Given the description of an element on the screen output the (x, y) to click on. 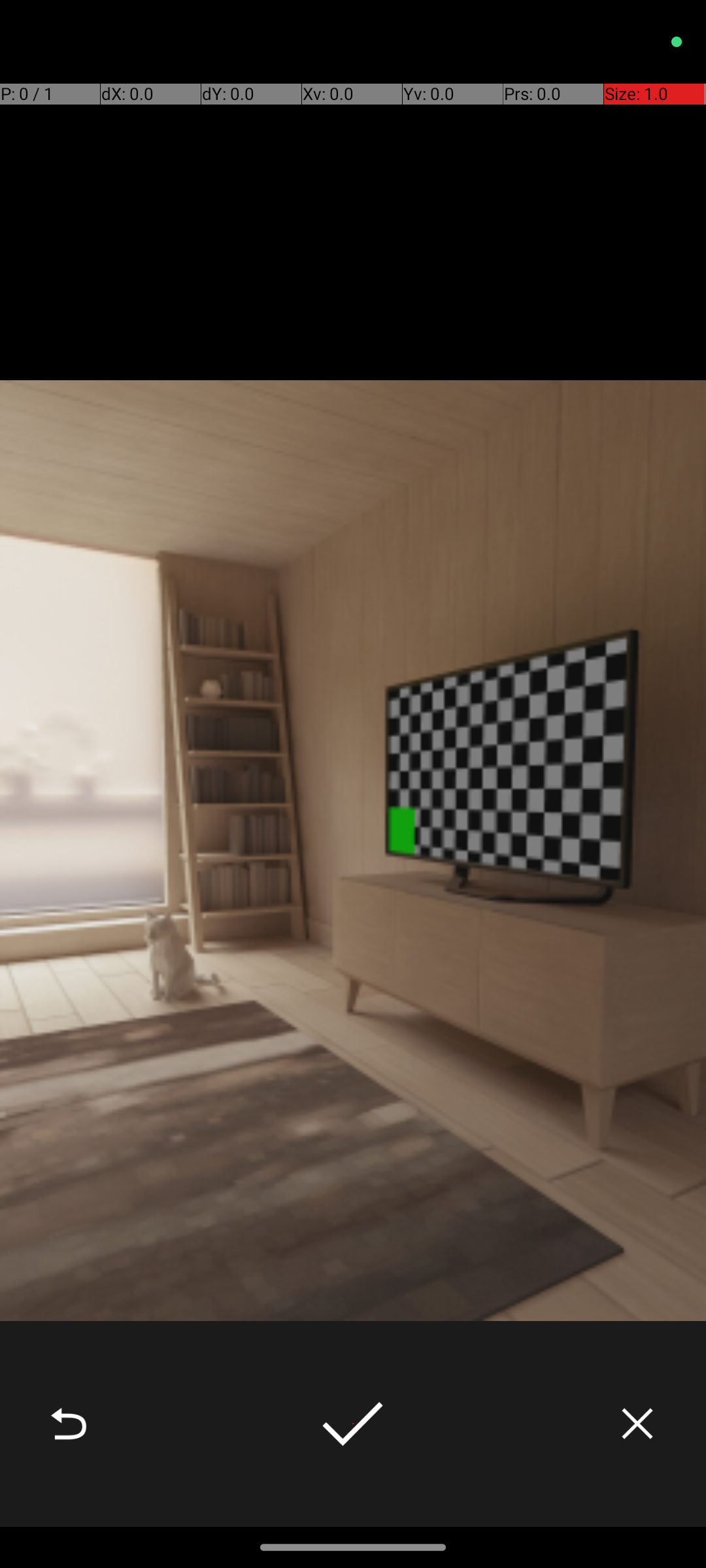
Retake Element type: android.widget.ImageButton (68, 1423)
